Given the description of an element on the screen output the (x, y) to click on. 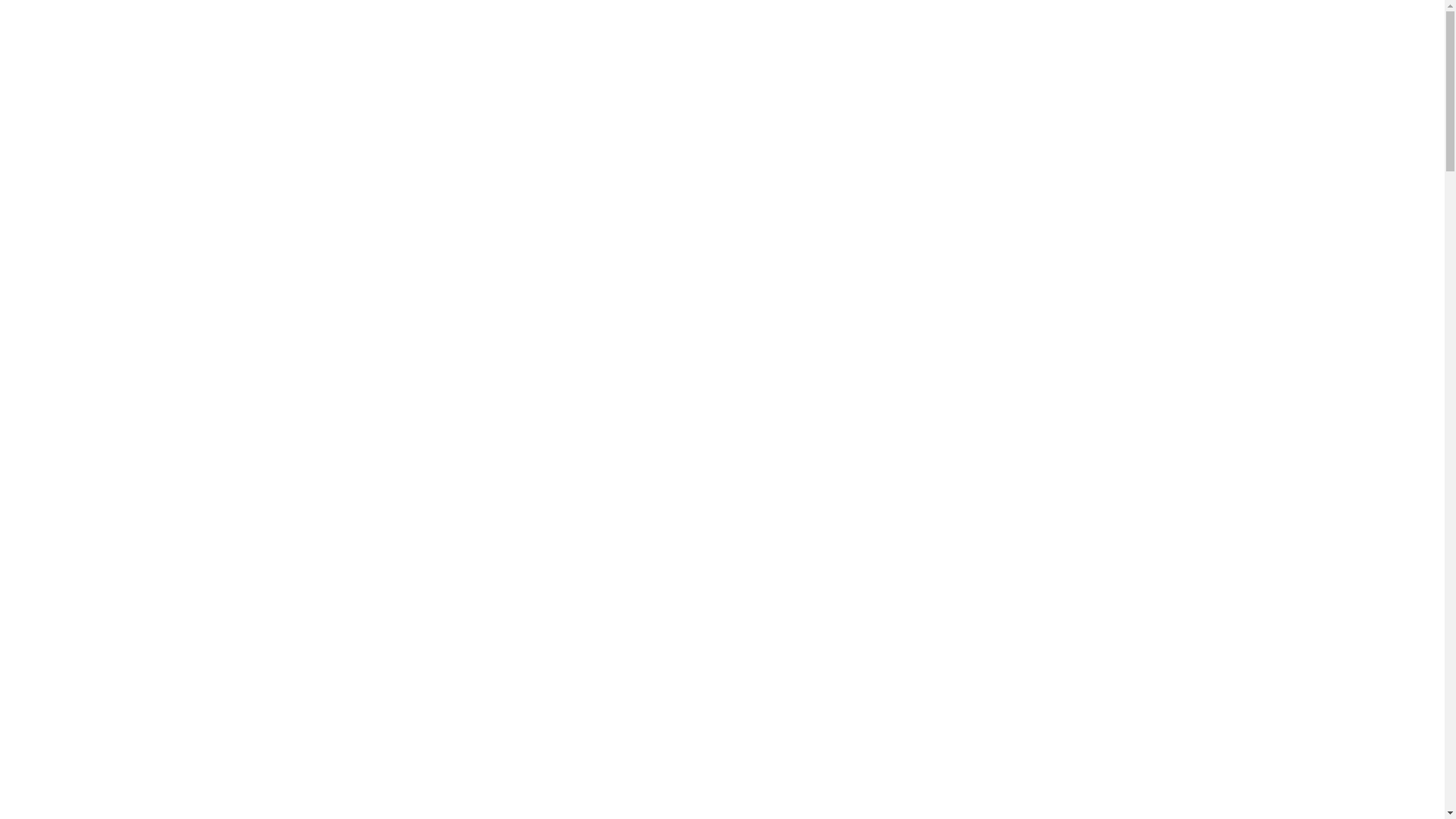
Kurse Element type: text (1075, 92)
Andrea Rothenberger Element type: text (574, 92)
Kontakt Element type: text (1199, 92)
Atemtherapie Element type: text (771, 92)
Supervision Element type: text (936, 92)
